Given the description of an element on the screen output the (x, y) to click on. 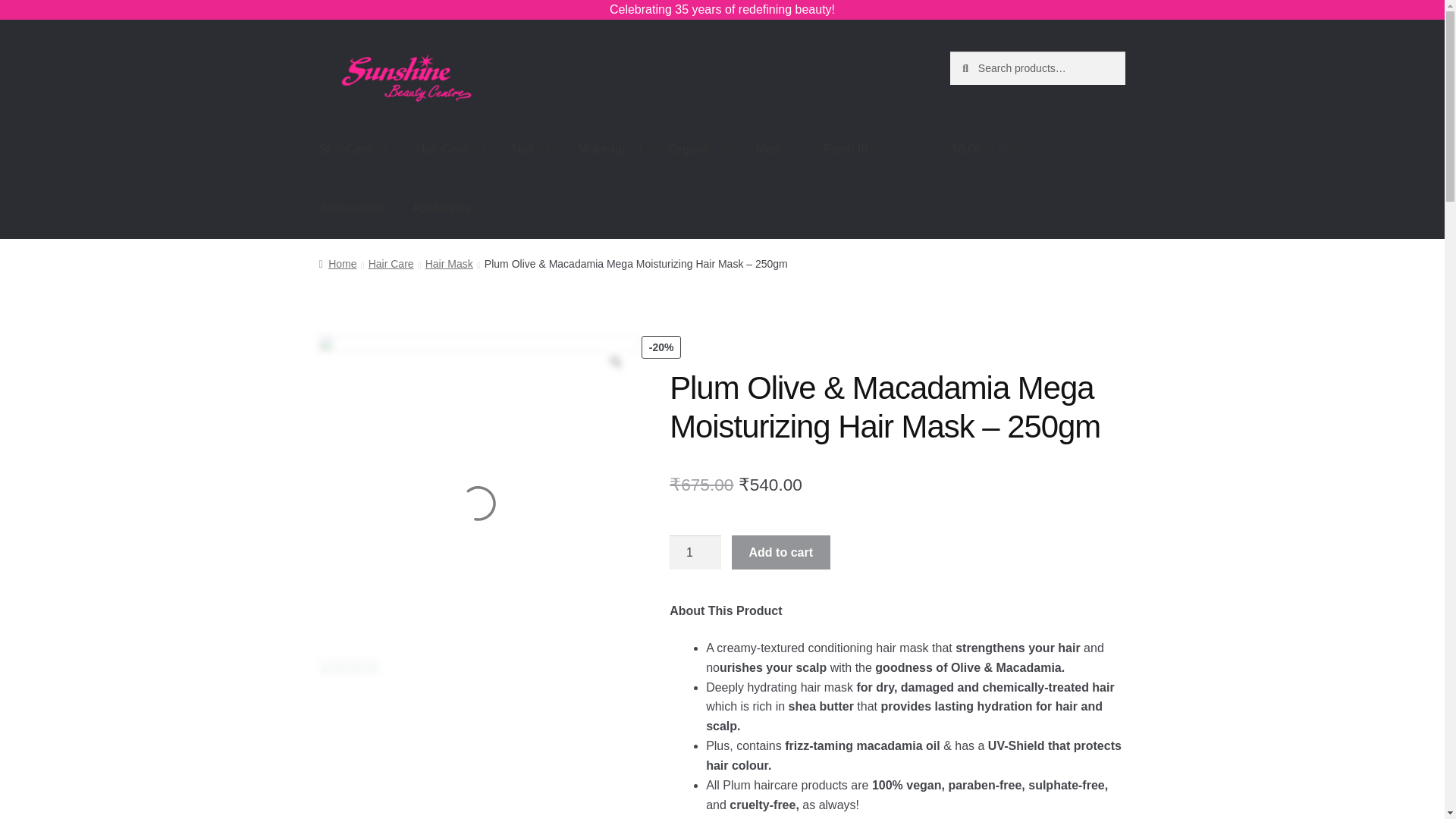
Skin Care (354, 149)
Nail (531, 149)
Hair Care (450, 149)
1 (694, 552)
Organic (697, 149)
Make-up (609, 149)
View your shopping cart (1037, 149)
